Given the description of an element on the screen output the (x, y) to click on. 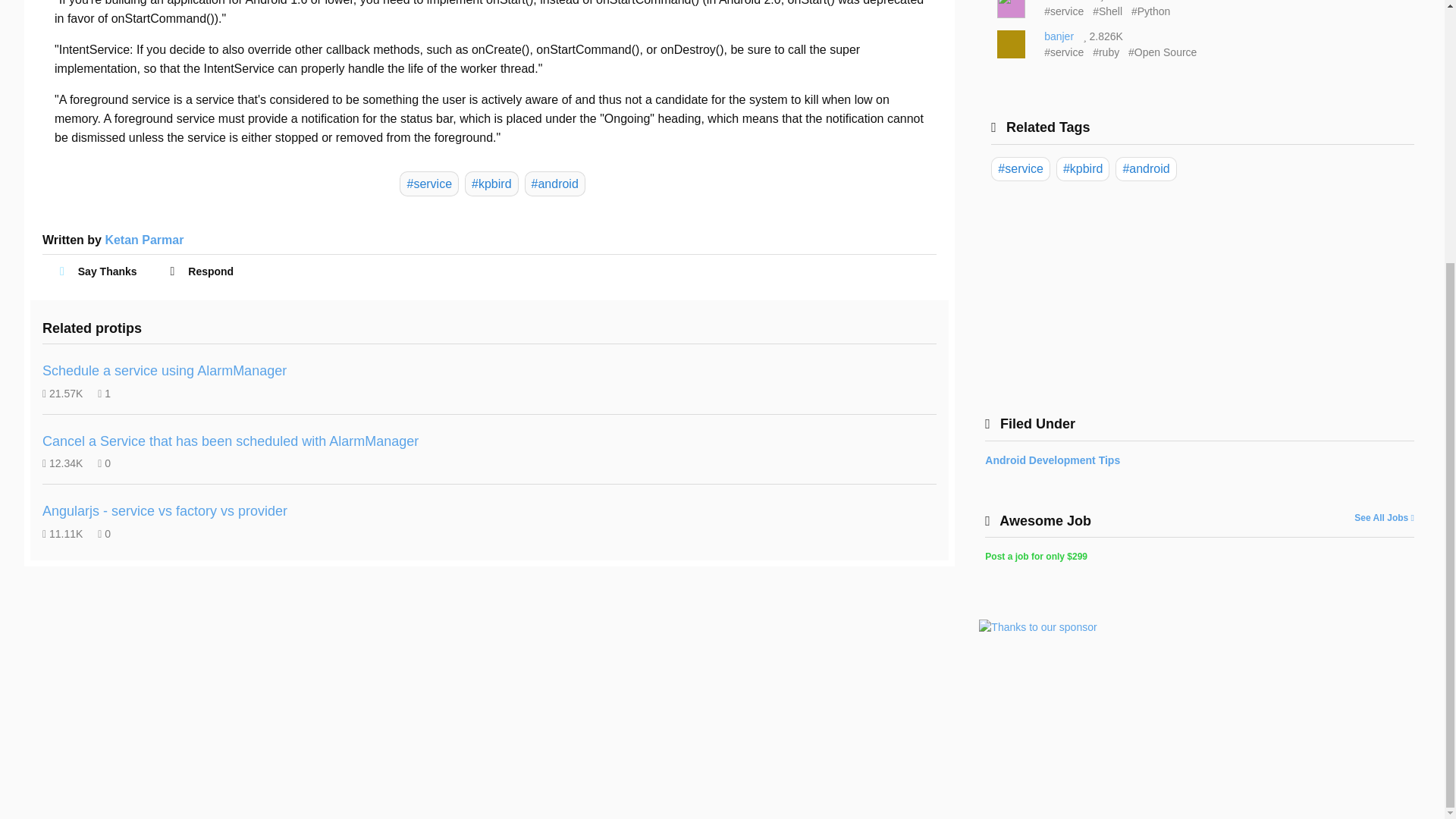
Say Thanks (101, 271)
Angularjs - service vs factory vs provider (164, 510)
Ketan Parmar (143, 239)
Schedule a service using AlarmManager (164, 370)
Cancel a Service that has been scheduled with AlarmManager (230, 441)
Respond (204, 271)
